Given the description of an element on the screen output the (x, y) to click on. 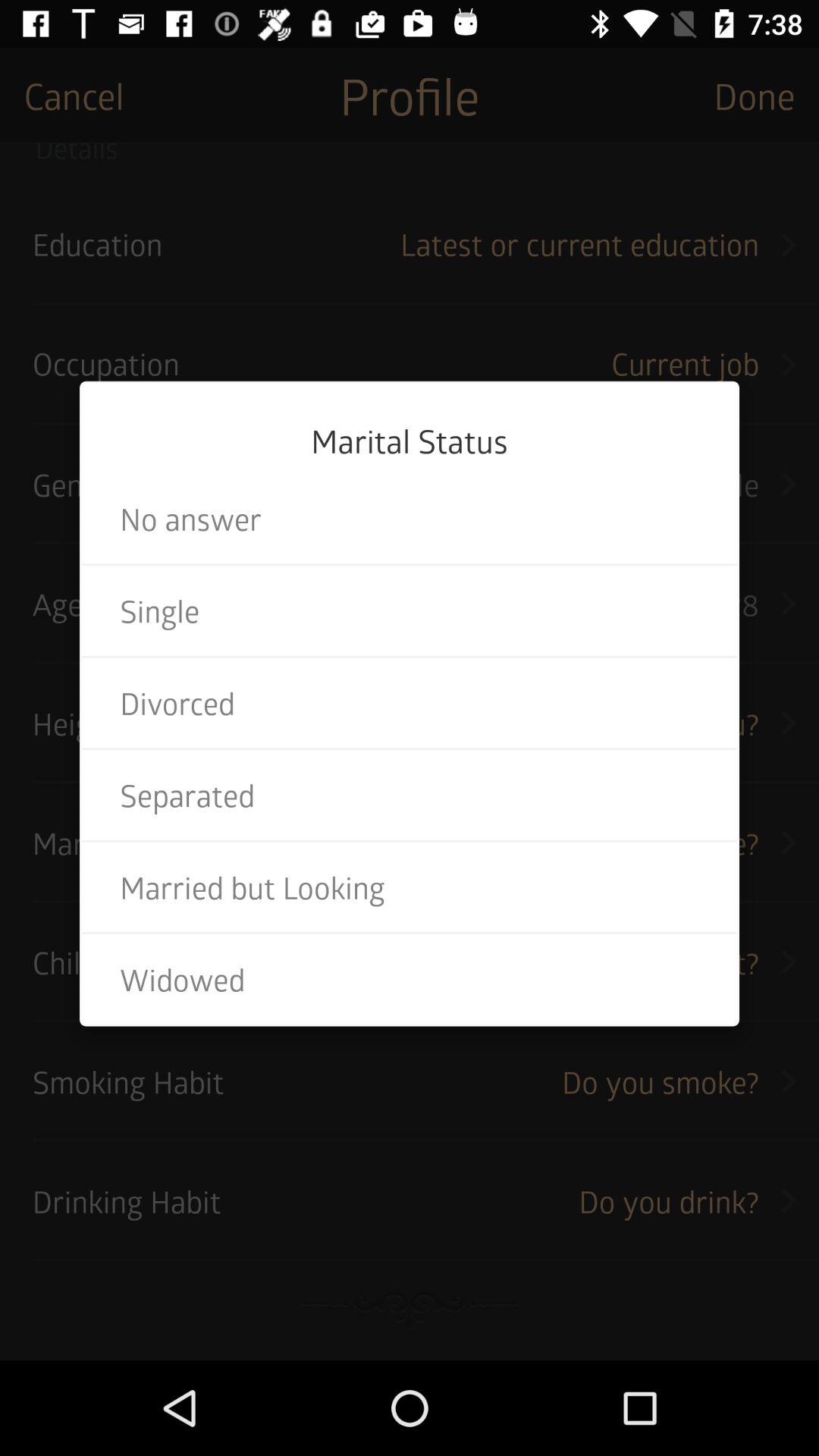
launch item above the single item (409, 518)
